Given the description of an element on the screen output the (x, y) to click on. 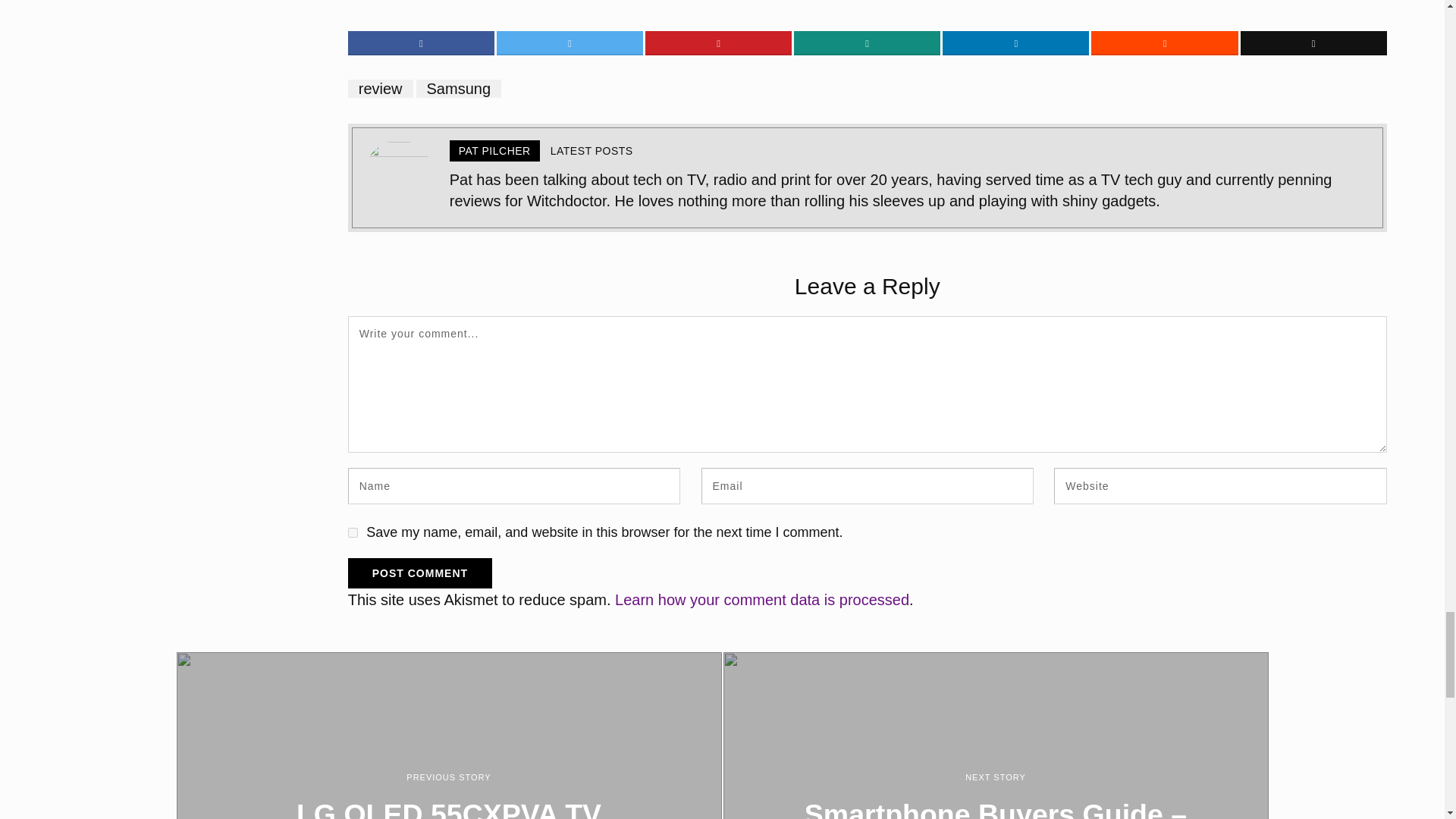
Post Comment (419, 572)
yes (352, 532)
